Given the description of an element on the screen output the (x, y) to click on. 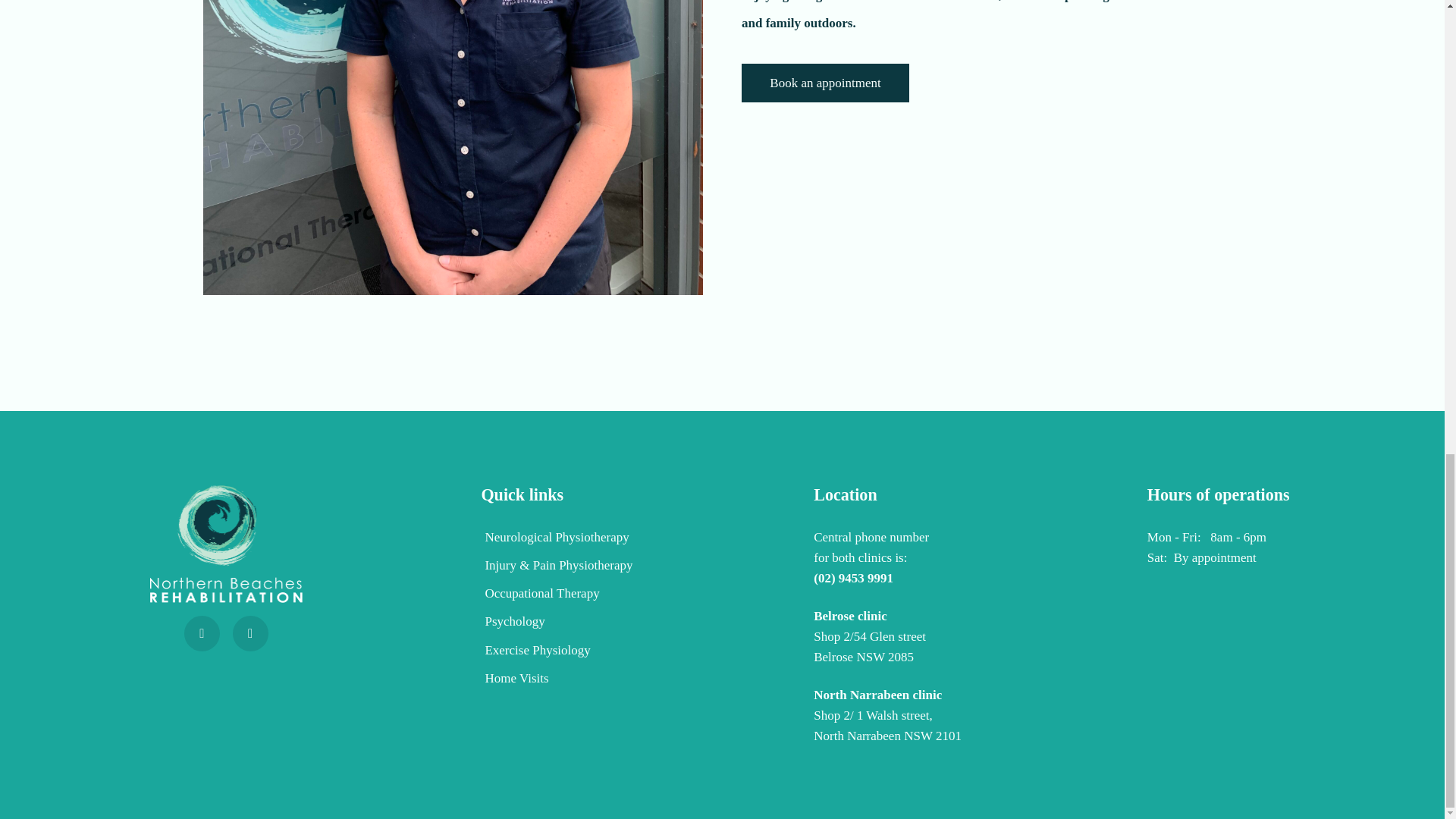
Exercise Physiology (555, 653)
Psychology (555, 624)
Book an appointment (824, 82)
Occupational Therapy (555, 596)
Home Visits (555, 682)
Neurological Physiotherapy (555, 541)
